Given the description of an element on the screen output the (x, y) to click on. 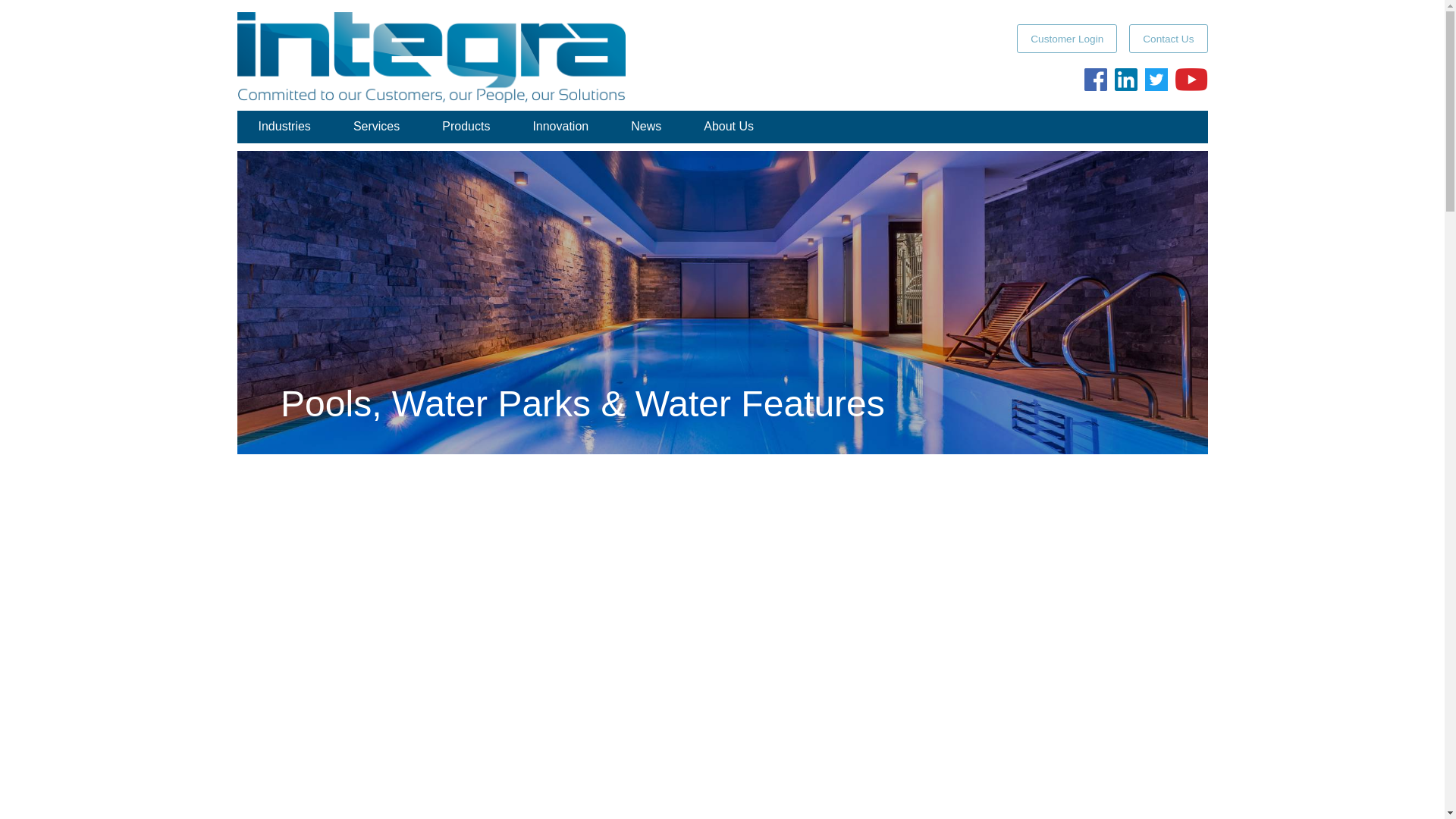
Contact Us (1168, 38)
Industries (283, 126)
Customer Login (1066, 38)
